Given the description of an element on the screen output the (x, y) to click on. 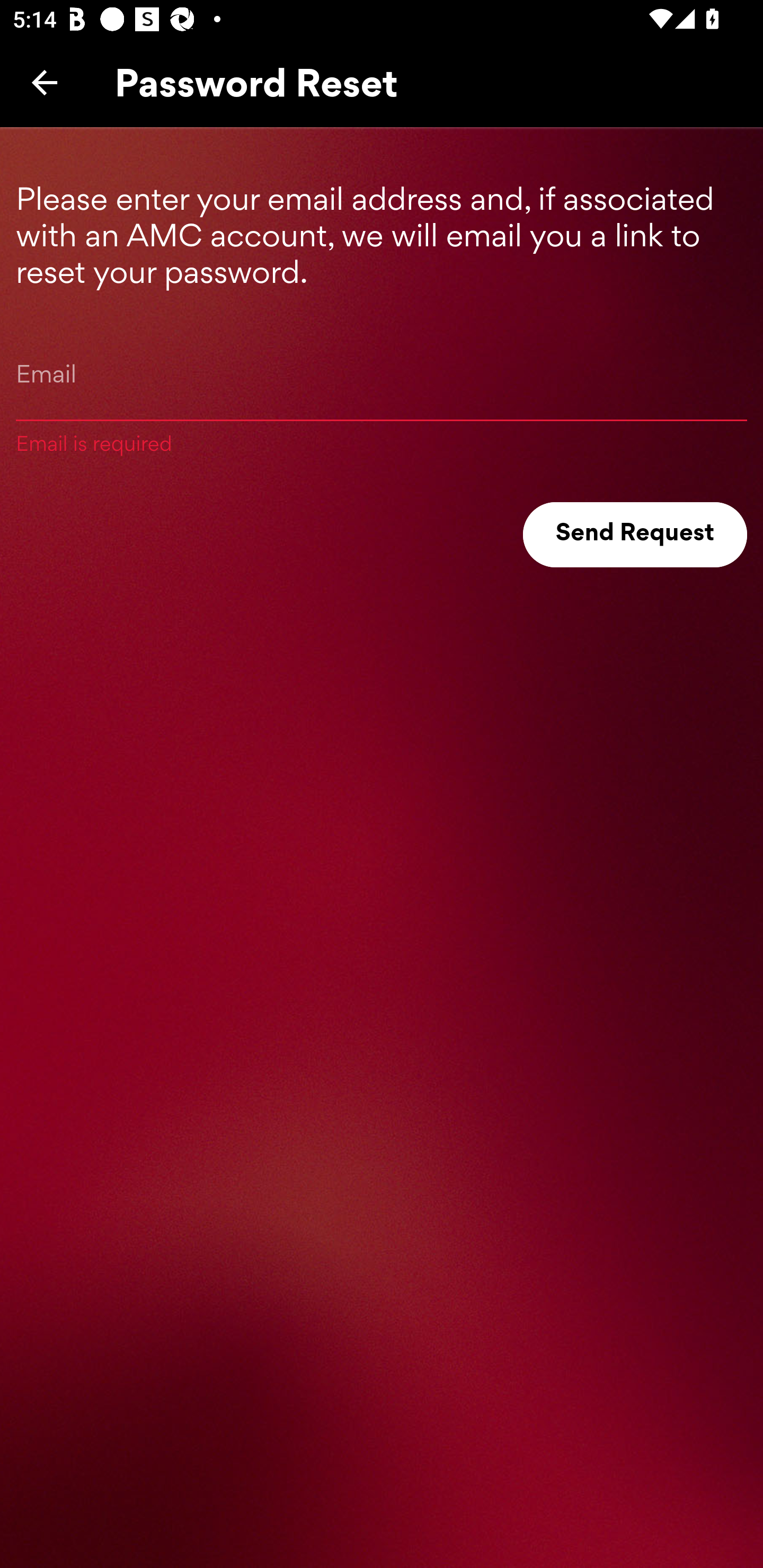
Back (44, 82)
Email is required (381, 394)
Send Request (634, 535)
